Given the description of an element on the screen output the (x, y) to click on. 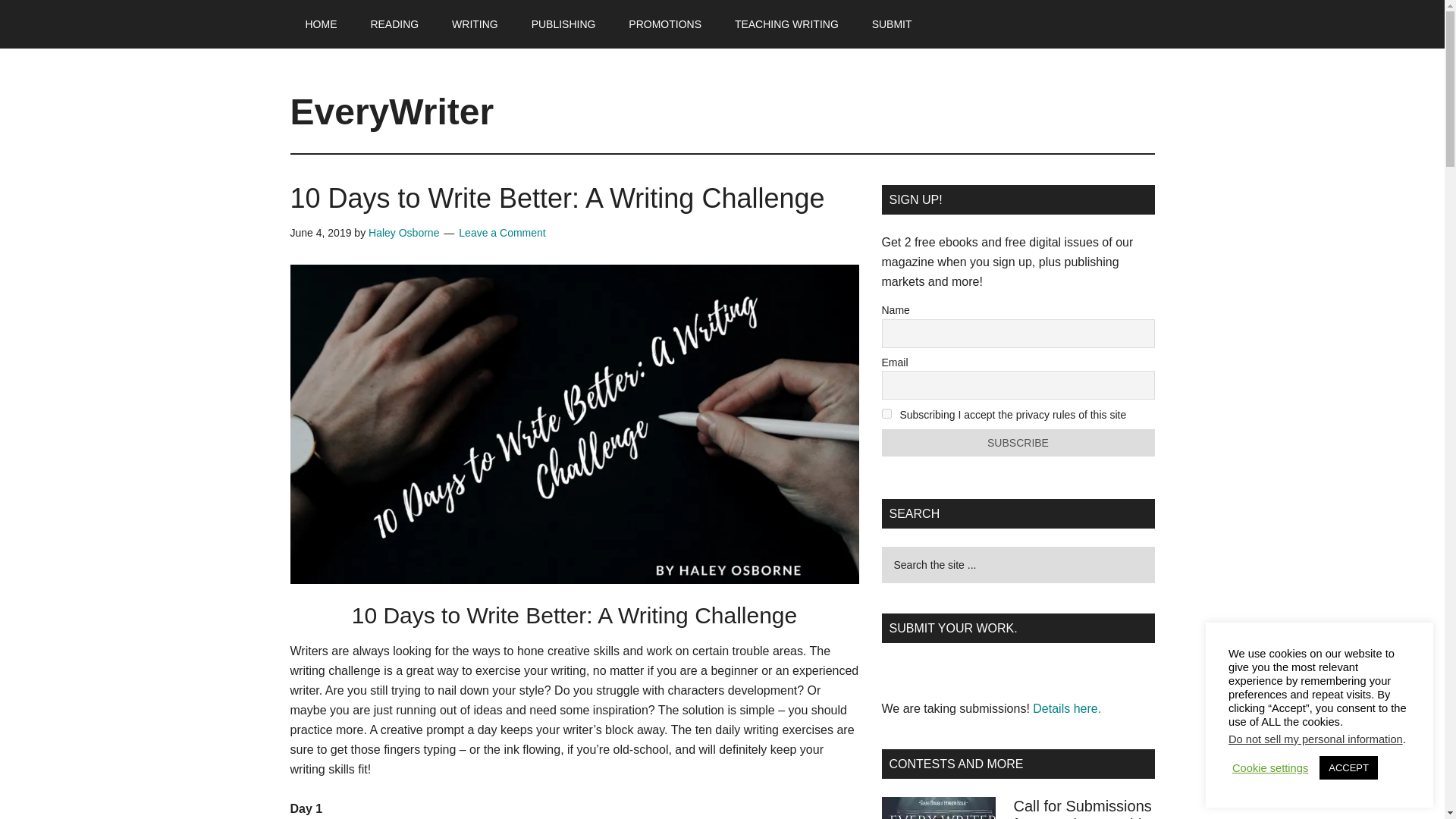
on (885, 413)
PROMOTIONS (664, 24)
HOME (320, 24)
READING (394, 24)
PUBLISHING (563, 24)
Subscribe (1017, 442)
WRITING (474, 24)
